Given the description of an element on the screen output the (x, y) to click on. 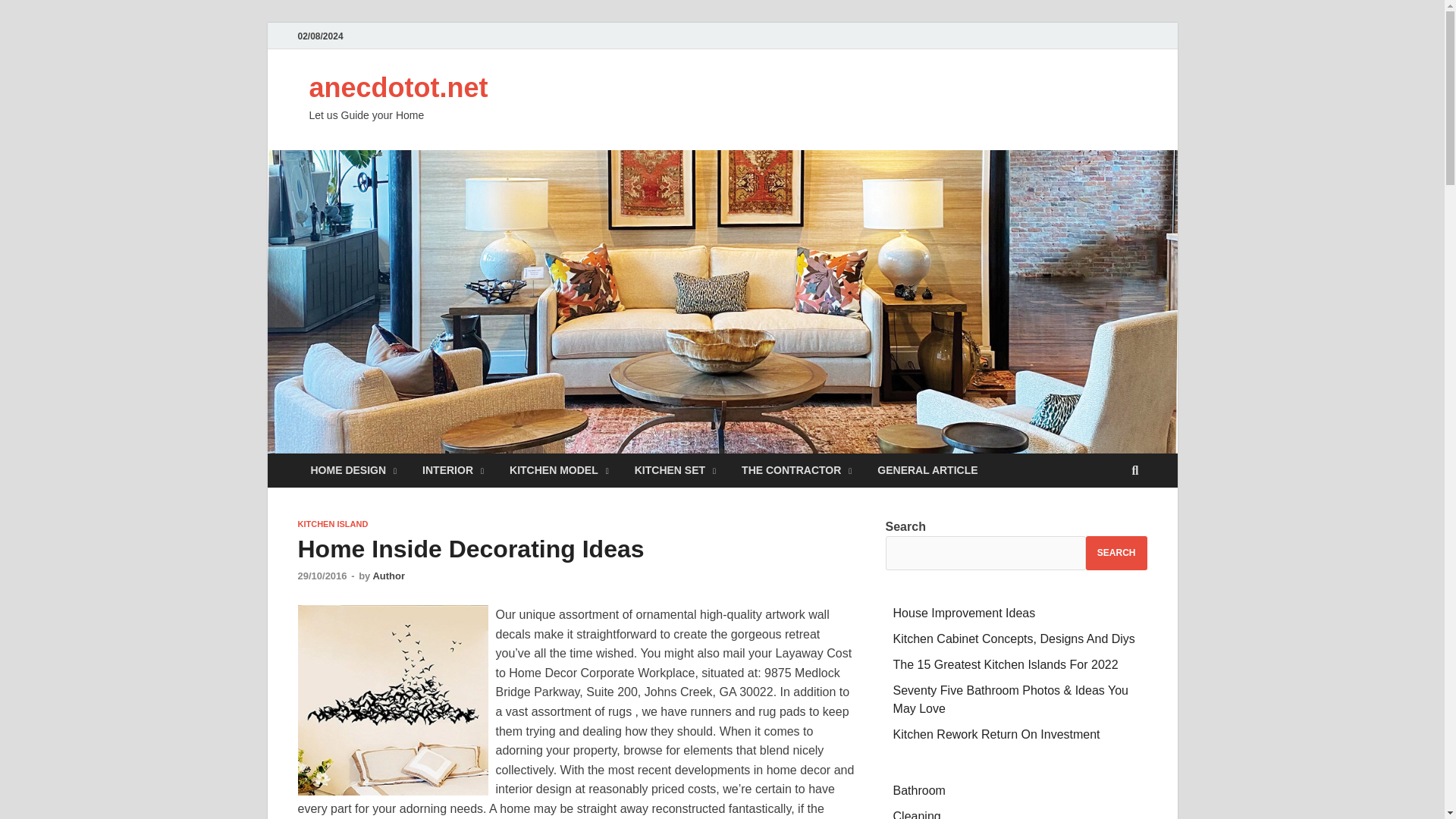
KITCHEN MODEL (558, 470)
GENERAL ARTICLE (927, 470)
THE CONTRACTOR (796, 470)
anecdotot.net (397, 87)
KITCHEN SET (675, 470)
INTERIOR (452, 470)
HOME DESIGN (353, 470)
